Given the description of an element on the screen output the (x, y) to click on. 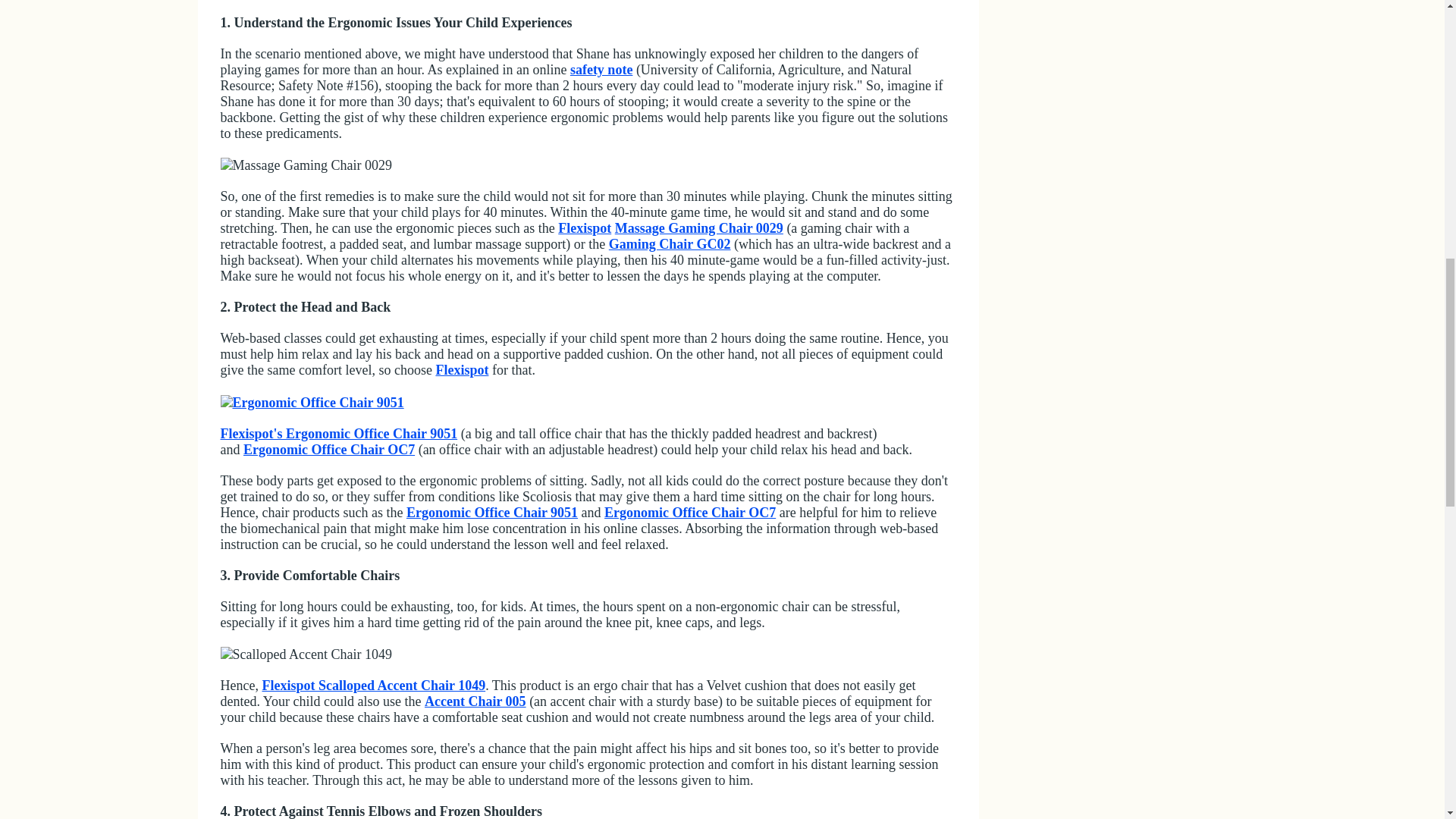
Flexispot Scalloped Accent Chair 1049 (373, 685)
Massage Gaming Chair 0029 (698, 227)
Ergonomic Office Chair OC7 (328, 449)
Flexispot (584, 227)
Ergonomic Office Chair 9051 (311, 402)
Massage Gaming Chair 0029 (305, 165)
Ergonomic Office Chair 9051 (492, 512)
Flexispot (461, 369)
safety note (600, 69)
Ergonomic Office Chair OC7 (690, 512)
